Given the description of an element on the screen output the (x, y) to click on. 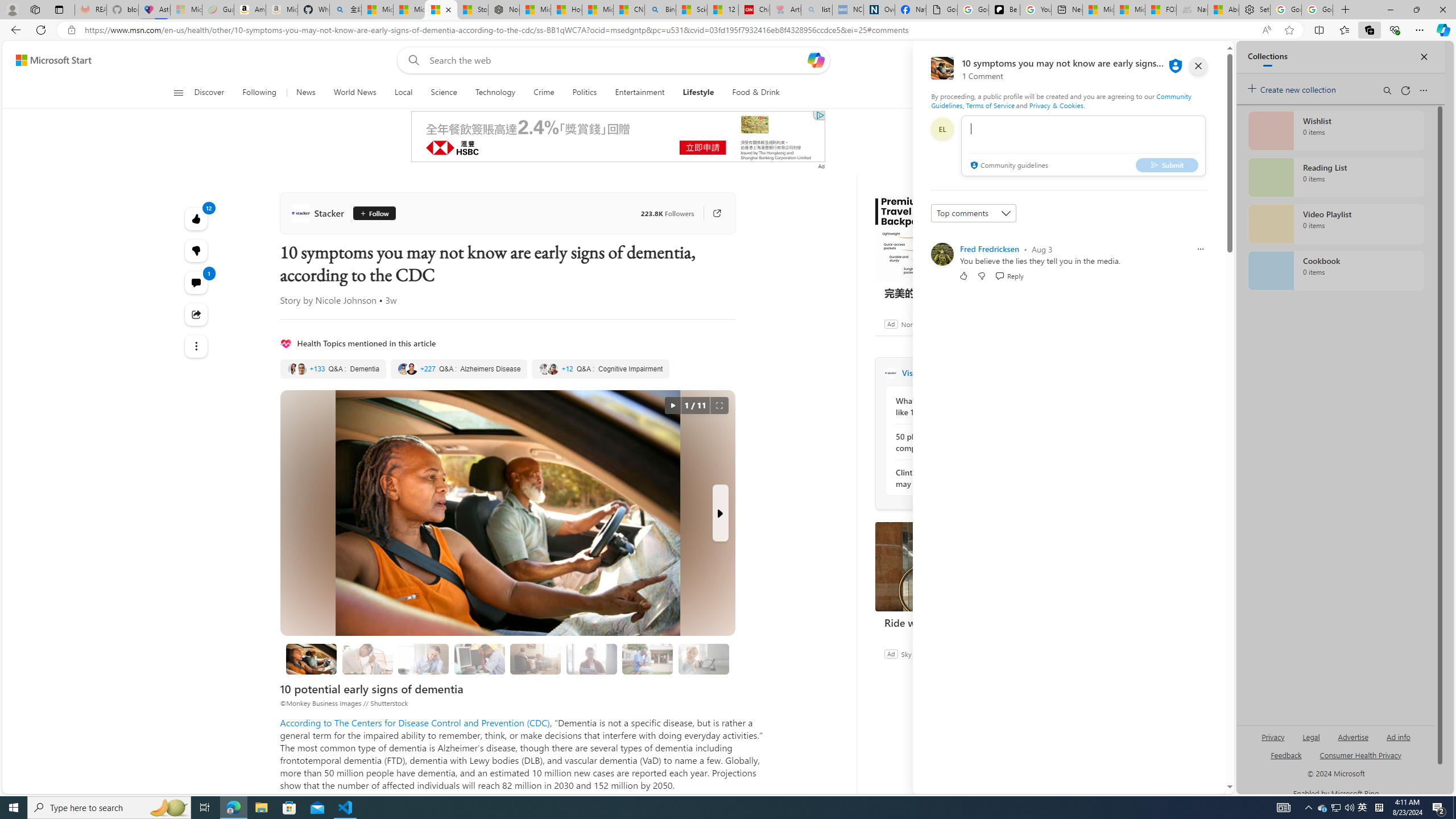
Follow (374, 213)
Profile Picture (941, 254)
Privacy & Cookies (1056, 104)
Confusion with time or place (535, 658)
Open navigation menu (177, 92)
Feedback (1182, 784)
Entertainment (639, 92)
Bing (660, 9)
News (305, 92)
